Given the description of an element on the screen output the (x, y) to click on. 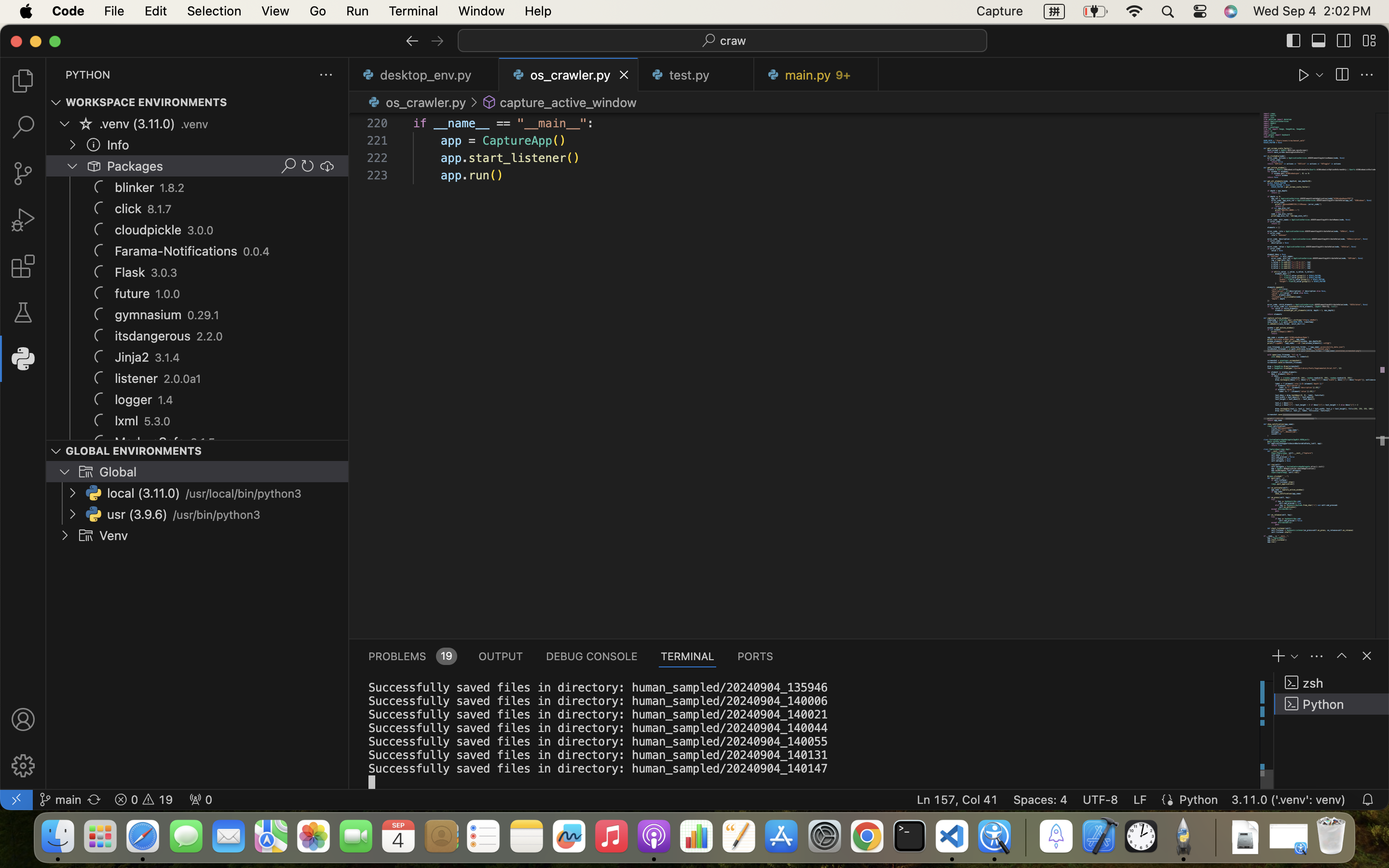
lxml Element type: AXStaticText (126, 420)
